Given the description of an element on the screen output the (x, y) to click on. 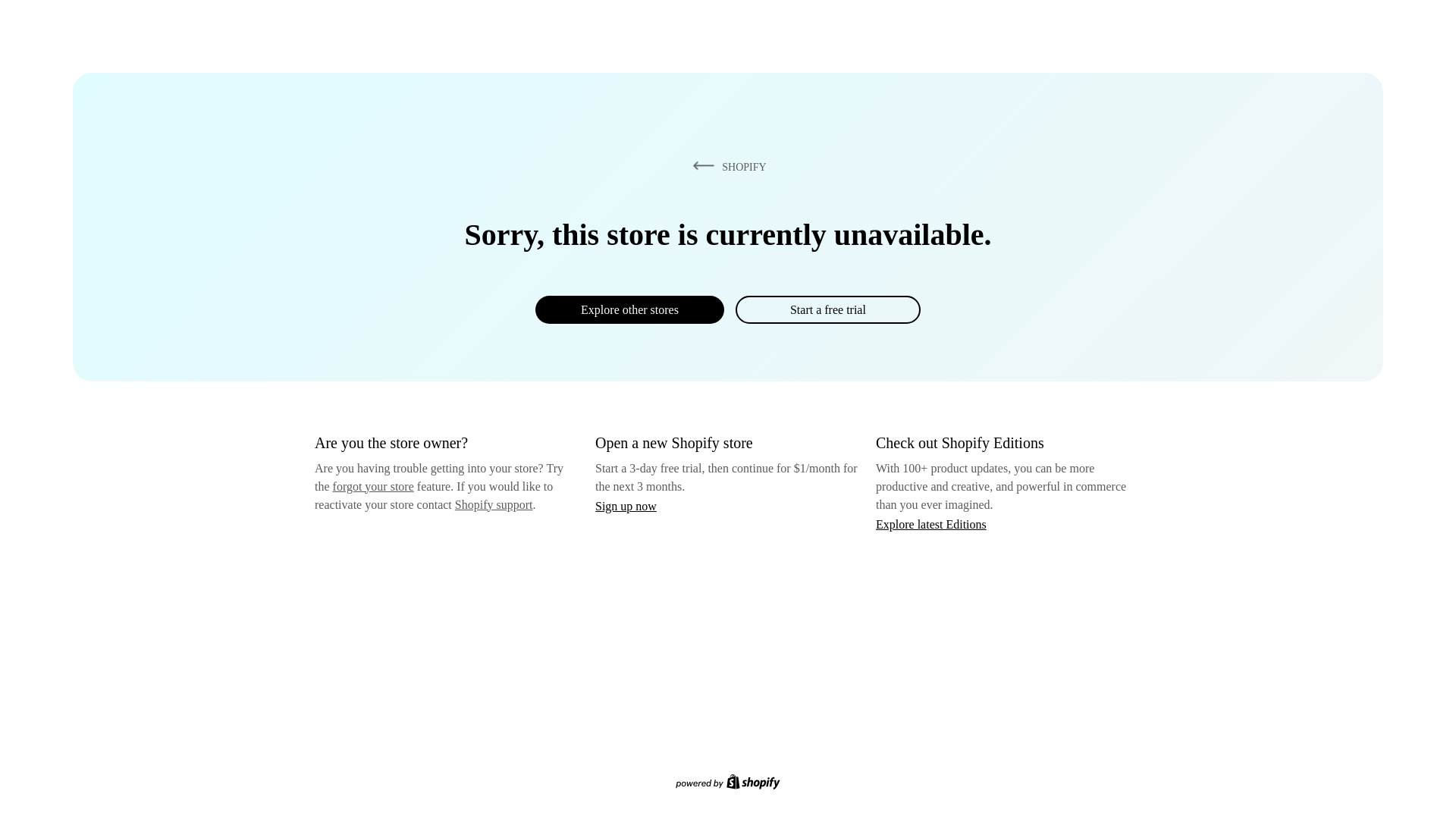
Shopify support (493, 504)
SHOPIFY (726, 166)
Sign up now (625, 505)
Start a free trial (827, 309)
Explore other stores (629, 309)
forgot your store (373, 486)
Explore latest Editions (931, 523)
